Given the description of an element on the screen output the (x, y) to click on. 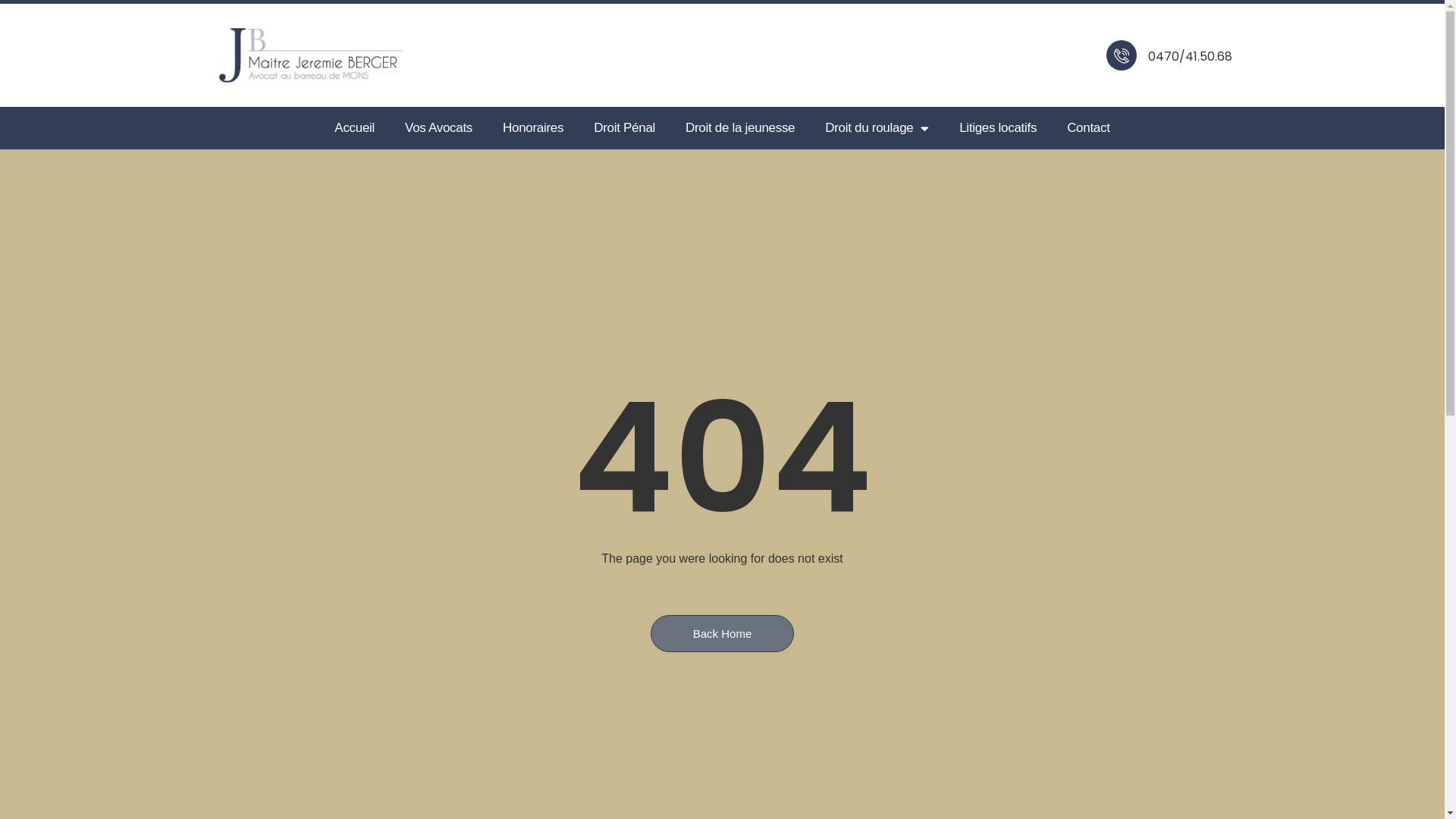
Contact Element type: text (1088, 127)
Droit de la jeunesse Element type: text (739, 127)
Vos Avocats Element type: text (438, 127)
Honoraires Element type: text (532, 127)
Litiges locatifs Element type: text (997, 127)
Accueil Element type: text (354, 127)
Back Home Element type: text (722, 633)
Droit du roulage Element type: text (876, 127)
